Given the description of an element on the screen output the (x, y) to click on. 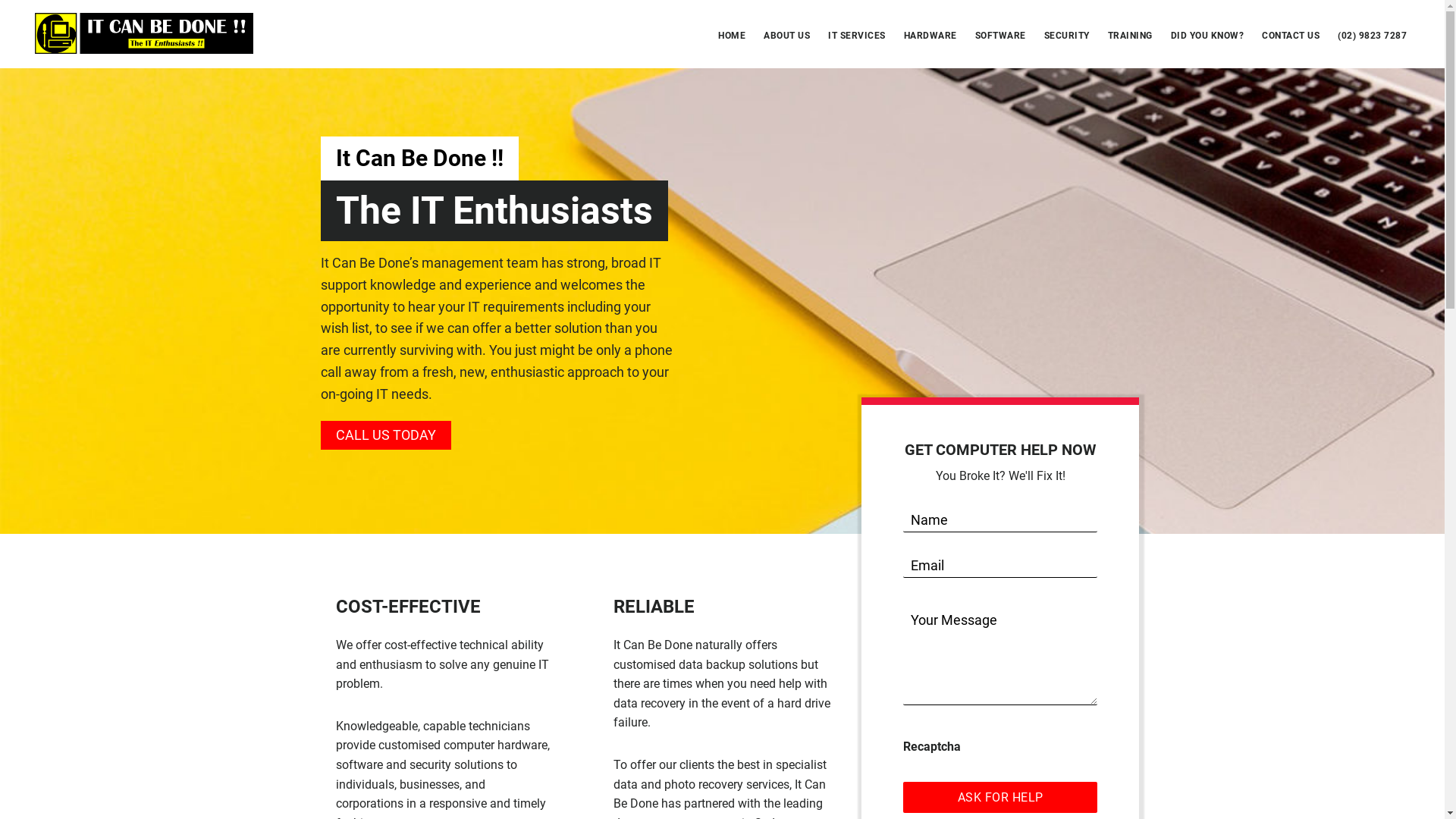
Skip to content Element type: text (0, 0)
TRAINING Element type: text (1129, 35)
HARDWARE Element type: text (930, 35)
SOFTWARE Element type: text (1000, 35)
IT CAN BE DONE | SYDNEY IT SERVICES Element type: text (143, 32)
CALL US TODAY Element type: text (385, 435)
SECURITY Element type: text (1065, 35)
ABOUT US Element type: text (786, 35)
DID YOU KNOW? Element type: text (1207, 35)
HOME Element type: text (731, 35)
CONTACT US Element type: text (1290, 35)
IT SERVICES Element type: text (856, 35)
(02) 9823 7287 Element type: text (1372, 35)
